Given the description of an element on the screen output the (x, y) to click on. 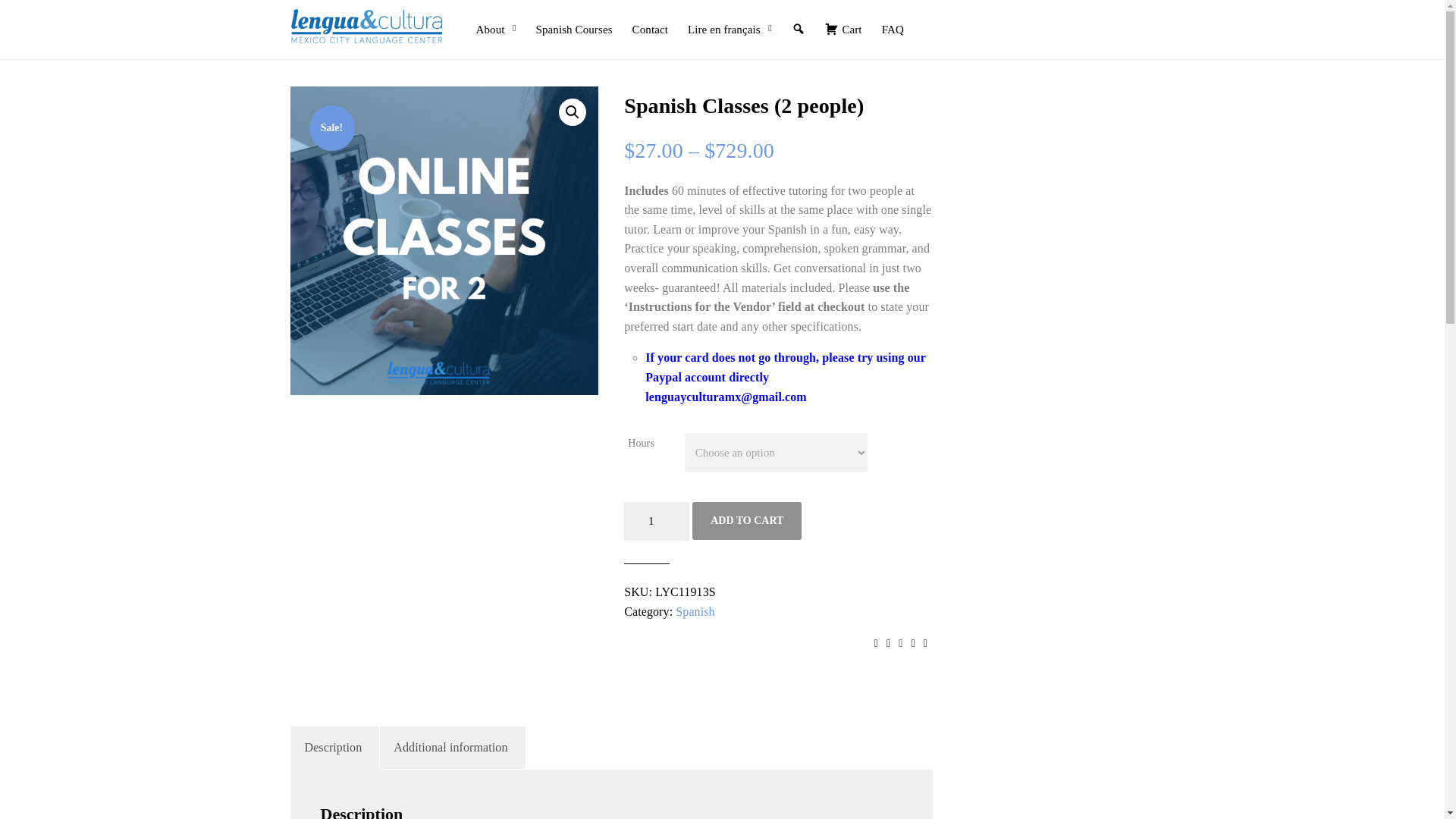
Cart (843, 19)
1 (656, 521)
Spanish Courses (573, 19)
Contact (649, 19)
About (496, 19)
